Given the description of an element on the screen output the (x, y) to click on. 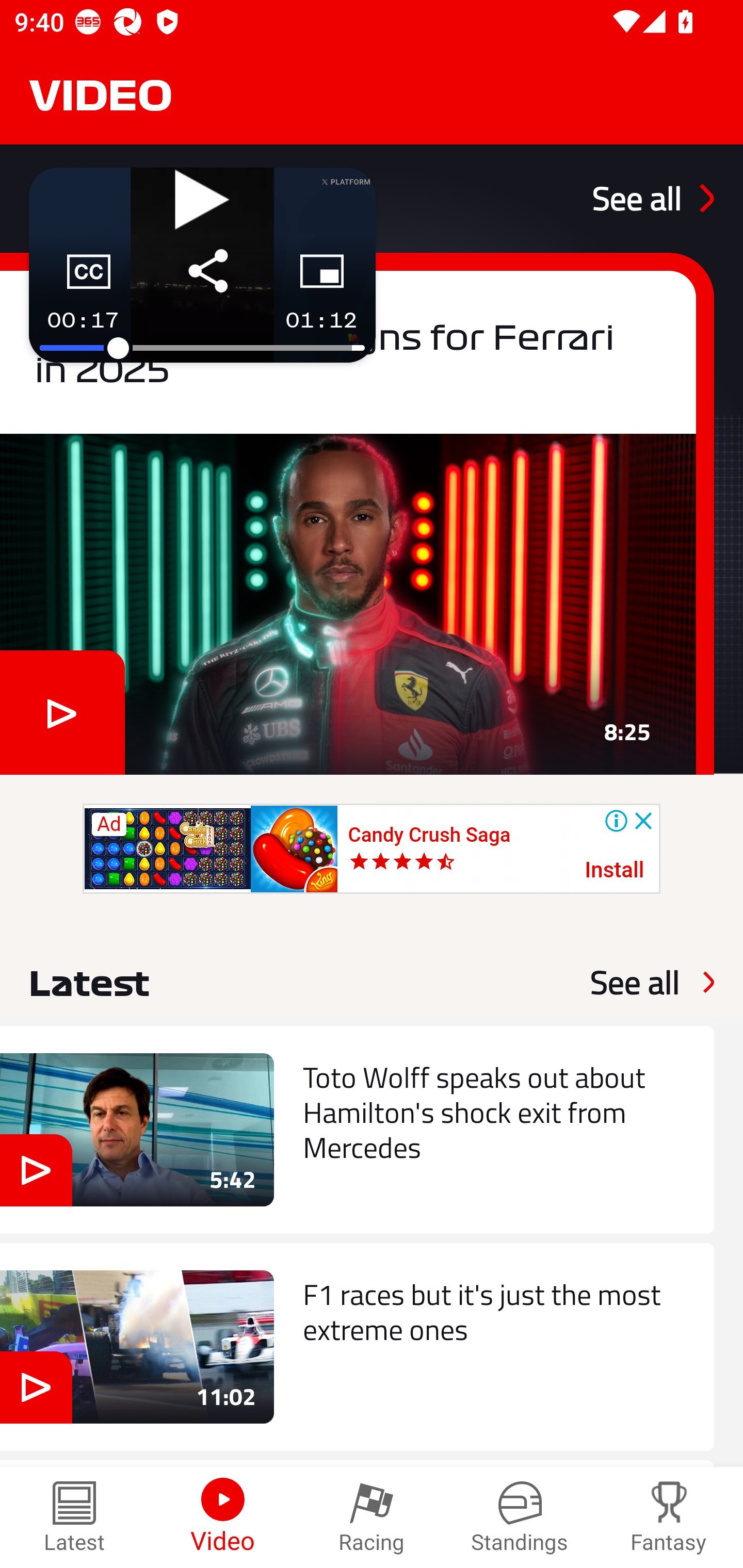
See all (653, 198)
Lewis Hamilton signs for Ferrari in 2025 8:25 (357, 513)
Candy Crush Saga (429, 834)
Install (614, 870)
See all (634, 982)
Latest (74, 1517)
Racing (371, 1517)
Standings (519, 1517)
Fantasy (668, 1517)
